Given the description of an element on the screen output the (x, y) to click on. 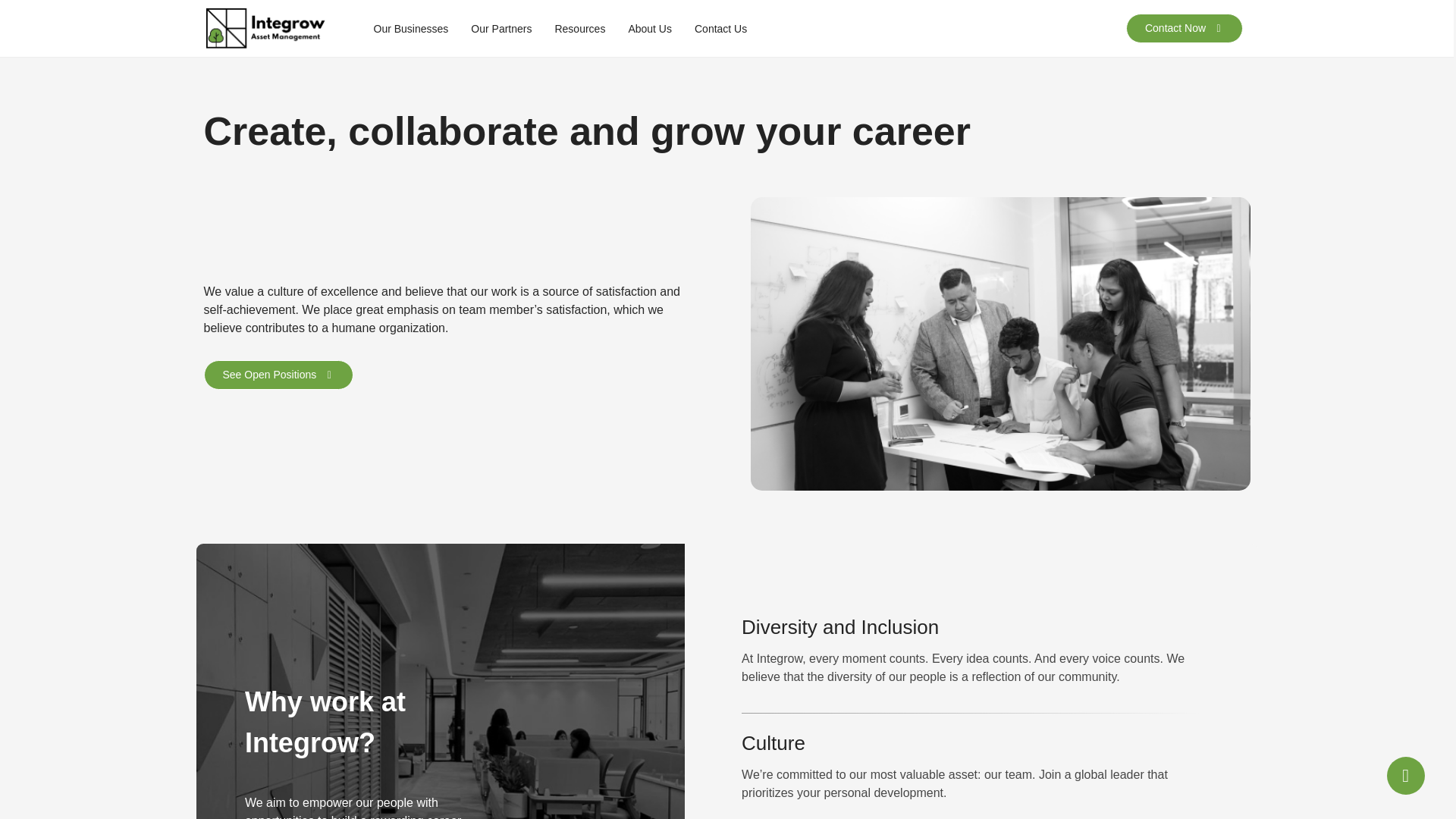
Resources (579, 27)
Our Partners (500, 27)
Our Businesses (410, 27)
Contact Us (720, 27)
About Us (649, 27)
